Given the description of an element on the screen output the (x, y) to click on. 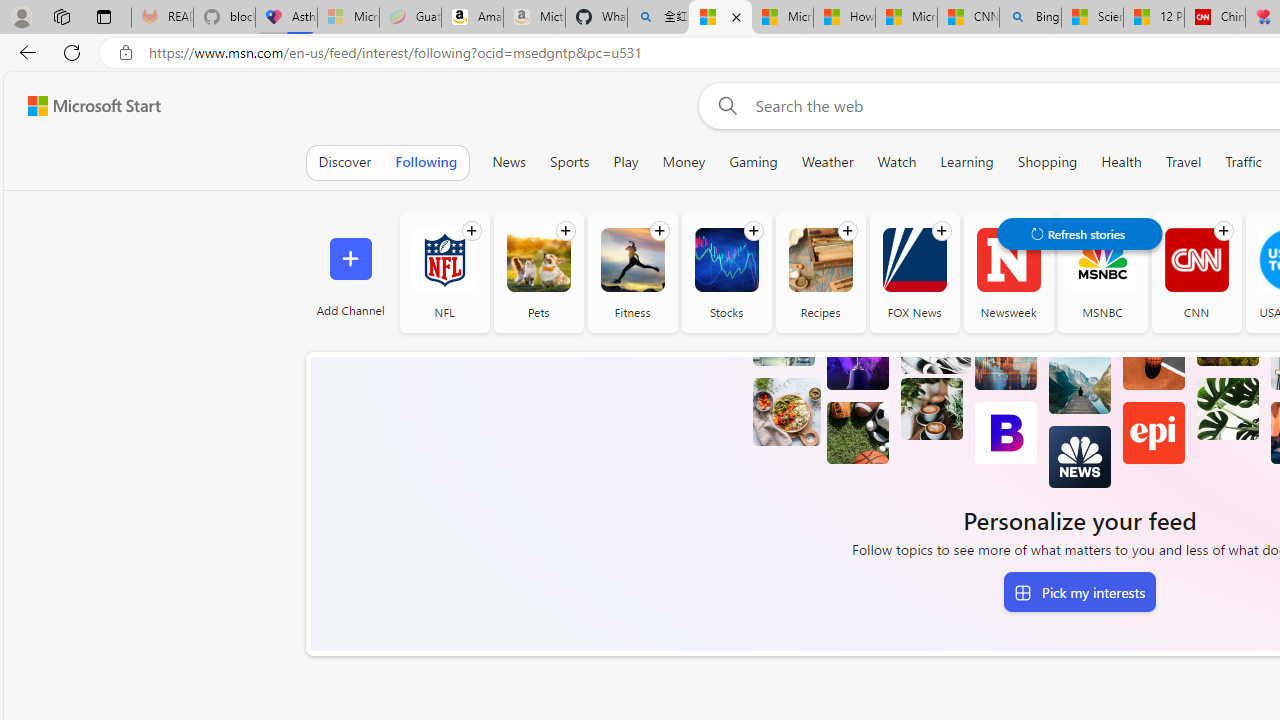
NFL (444, 260)
Health (1121, 162)
